Given the description of an element on the screen output the (x, y) to click on. 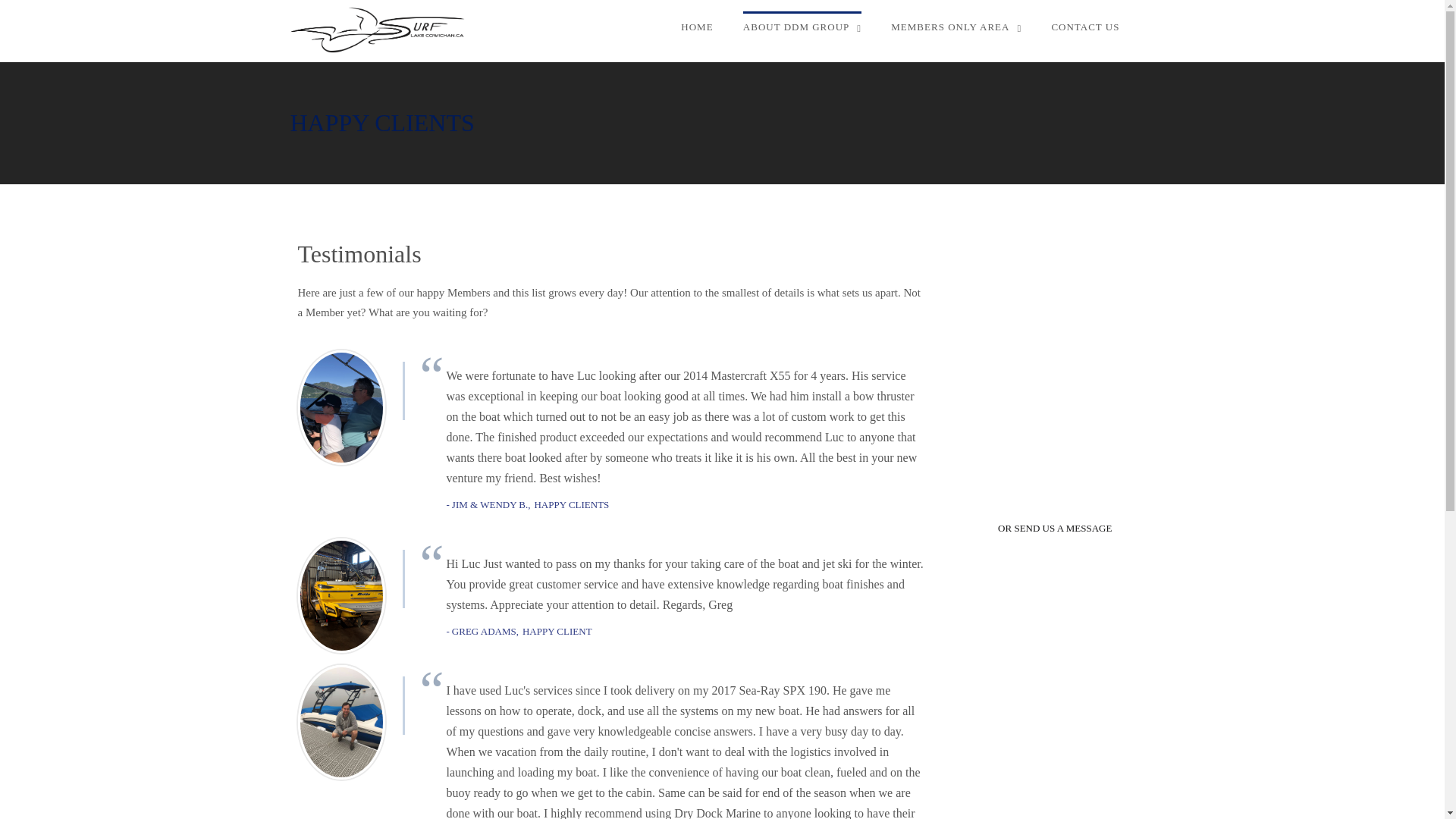
About DDM (1055, 264)
ABOUT DDM GROUP (801, 27)
OR SEND US A MESSAGE (1054, 528)
CONTACT US (1085, 26)
Members Login (1055, 295)
Testimonials (1055, 326)
MEMBERS ONLY AREA (956, 27)
HOME (697, 26)
